Given the description of an element on the screen output the (x, y) to click on. 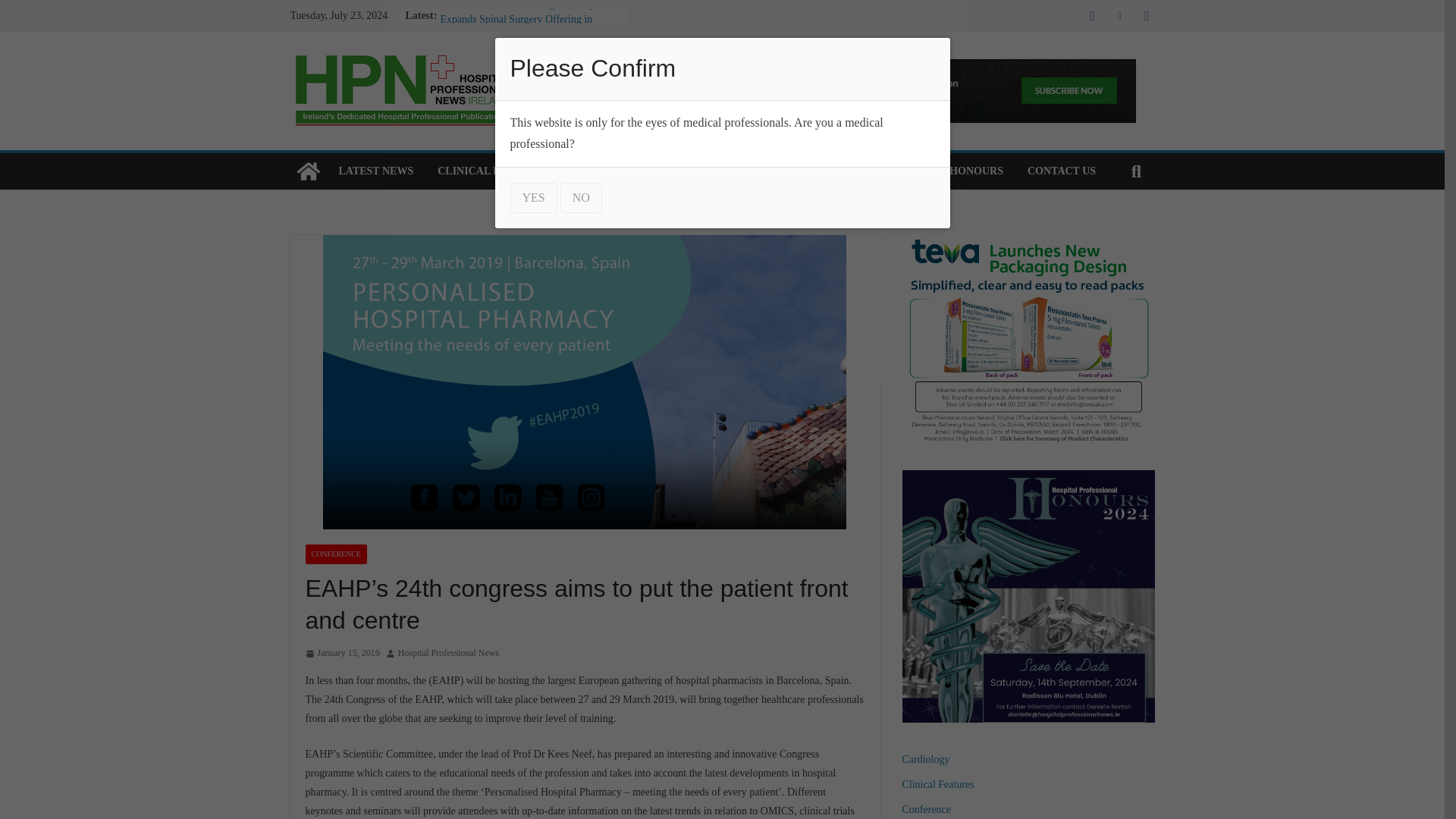
LATEST NEWS (375, 170)
PRODUCT NEWS (715, 170)
CONFERENCE (335, 554)
Hospital Professional News (448, 653)
MAGAZINE SUBSCRIPTION (853, 170)
CLINICAL FEATURES (493, 170)
Hospital Professional News (307, 171)
RESEARCH (619, 170)
January 15, 2019 (341, 653)
CONTACT US (1061, 170)
HONOURS (976, 170)
10:00 am (341, 653)
Hospital Professional News (448, 653)
